Given the description of an element on the screen output the (x, y) to click on. 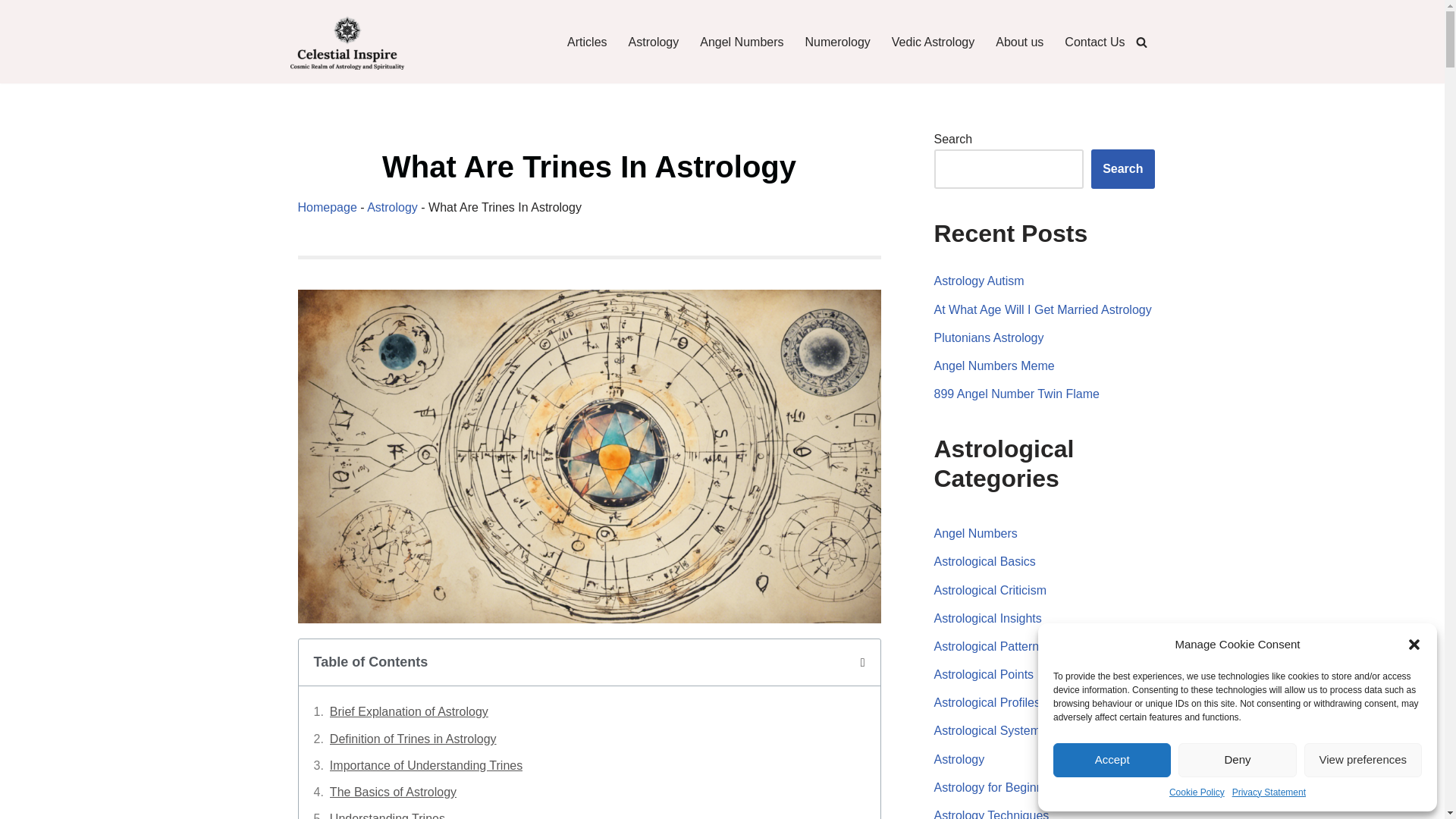
Skip to content (11, 31)
Contact Us (1094, 41)
Astrology (391, 206)
Privacy Statement (1268, 792)
Vedic Astrology (932, 41)
Angel Numbers (741, 41)
View preferences (1363, 759)
The Basics of Astrology (393, 792)
Brief Explanation of Astrology (408, 711)
Astrology (653, 41)
Articles (587, 41)
Numerology (837, 41)
Cookie Policy (1196, 792)
Accept (1111, 759)
Definition of Trines in Astrology (413, 738)
